Given the description of an element on the screen output the (x, y) to click on. 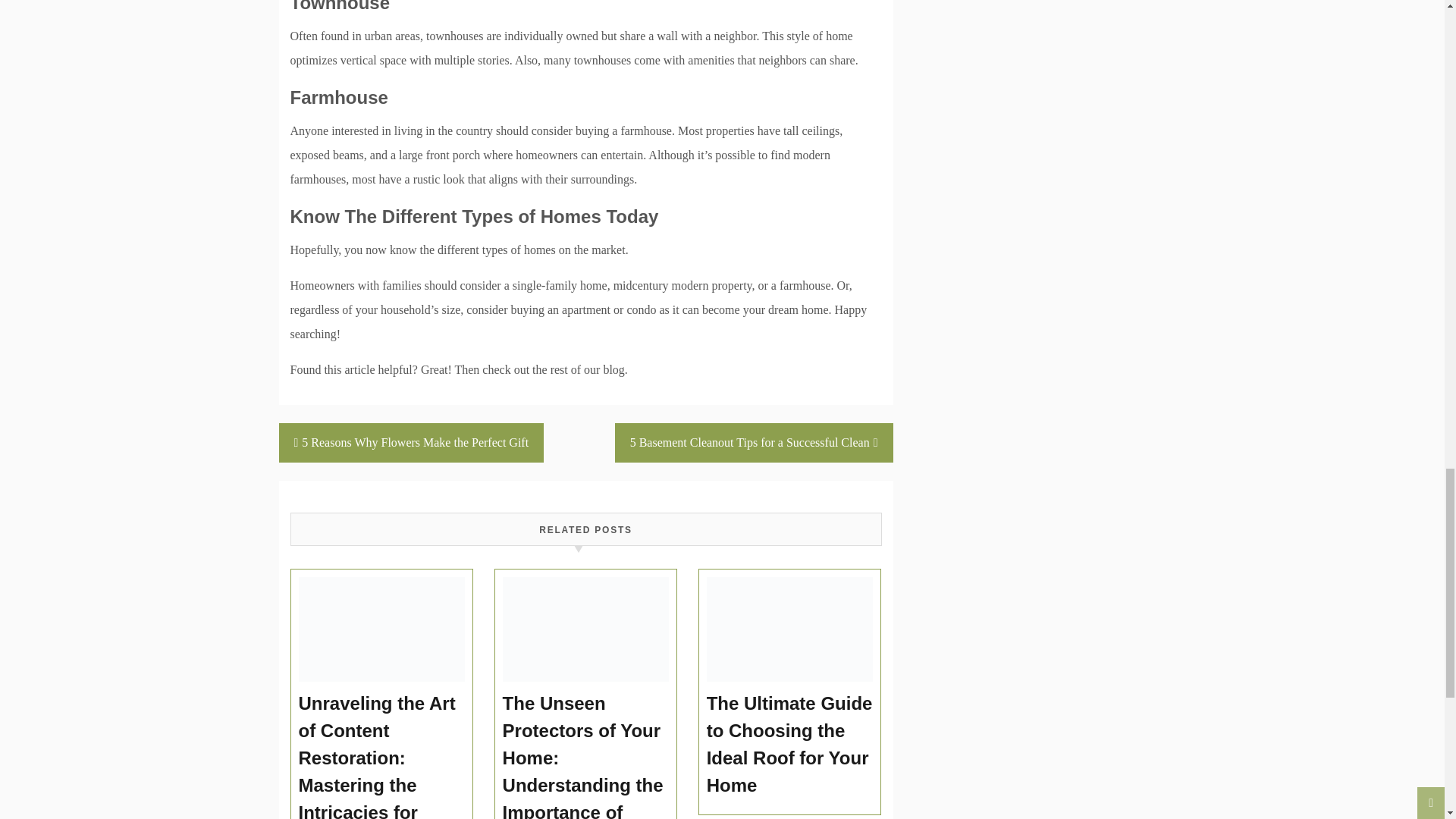
5 Basement Cleanout Tips for a Successful Clean (753, 442)
5 Reasons Why Flowers Make the Perfect Gift (411, 442)
The Ultimate Guide to Choosing the Ideal Roof for Your Home (789, 744)
